Given the description of an element on the screen output the (x, y) to click on. 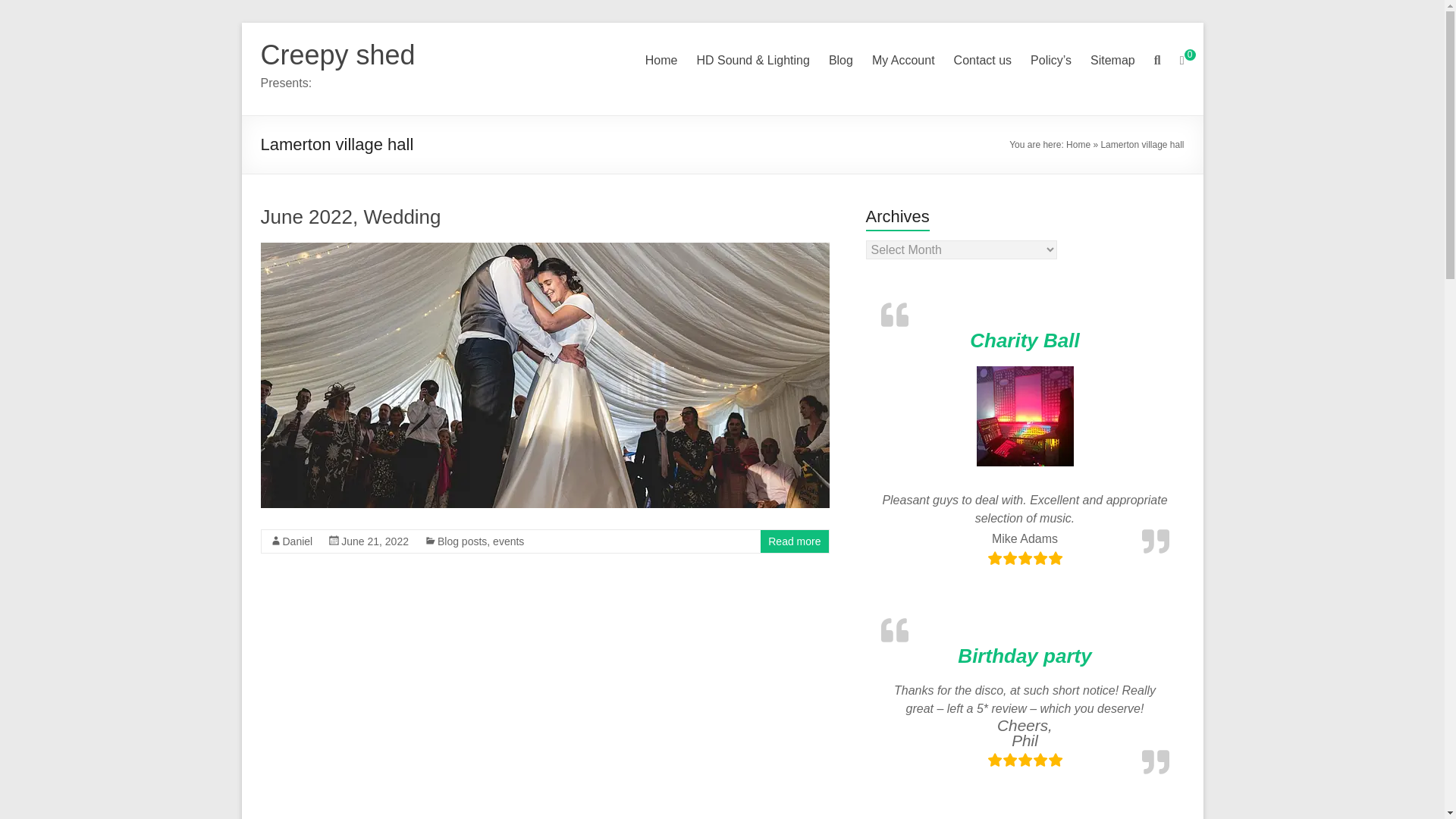
June 2022, Wedding (350, 216)
Charity Ball (1024, 340)
June 2022, Wedding (350, 216)
June 21, 2022 (374, 541)
9:21 pm (374, 541)
Contact us (982, 60)
Blog (840, 60)
Birthday party (1024, 655)
